Given the description of an element on the screen output the (x, y) to click on. 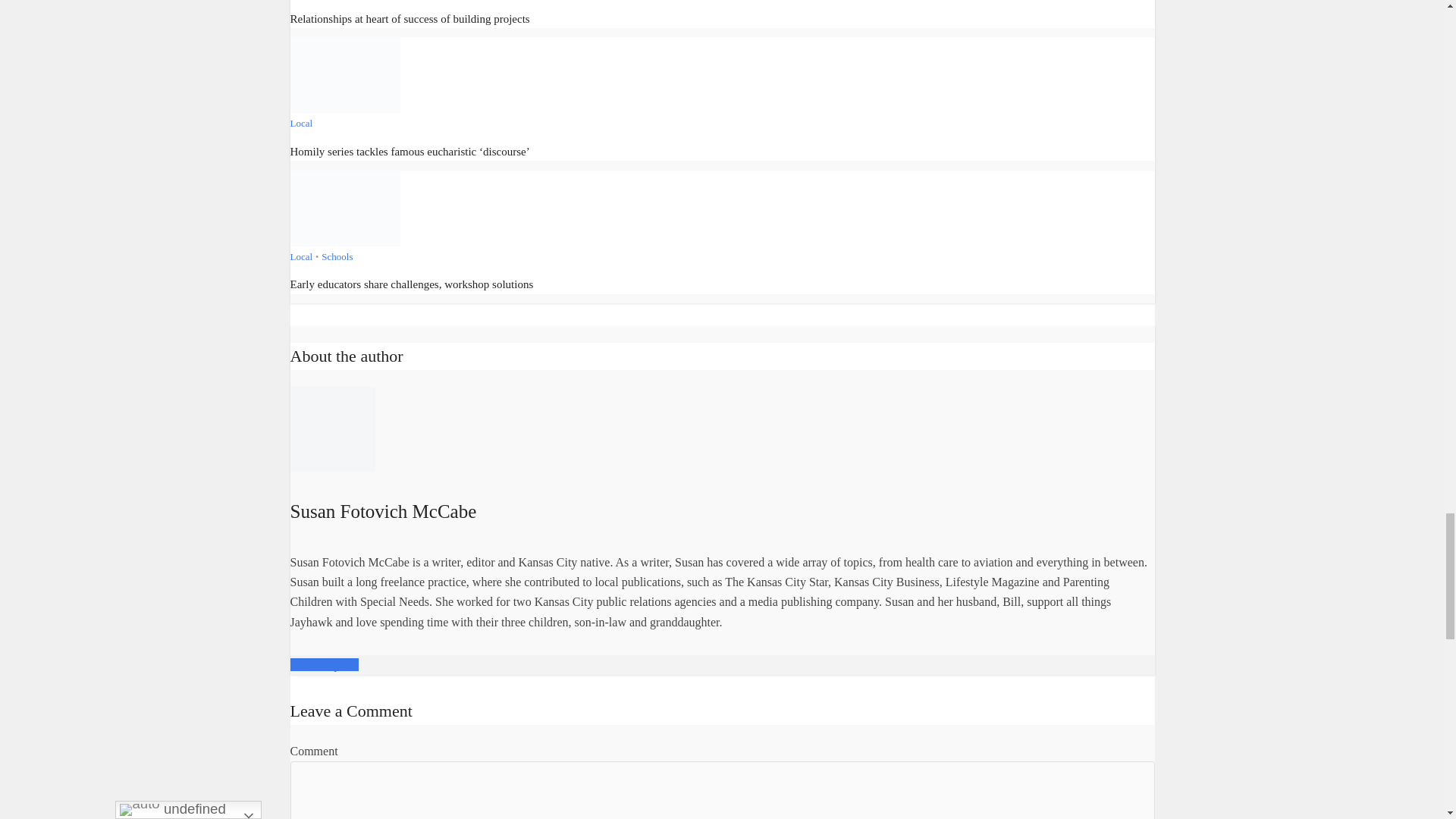
Early educators share challenges, workshop solutions (410, 284)
Early educators share challenges, workshop solutions (343, 205)
Relationships at heart of success of building projects (409, 18)
